Given the description of an element on the screen output the (x, y) to click on. 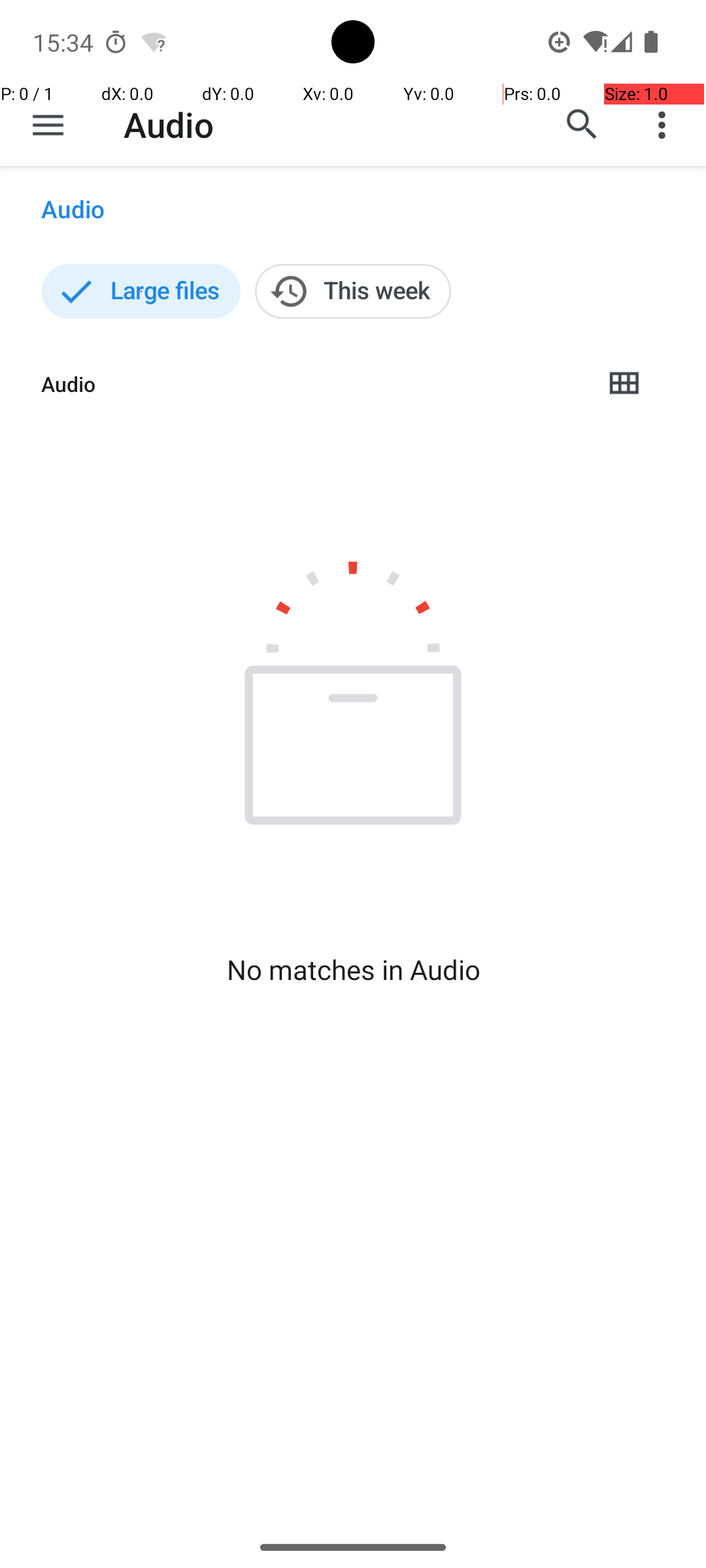
No matches in Audio Element type: android.widget.TextView (353, 968)
